Given the description of an element on the screen output the (x, y) to click on. 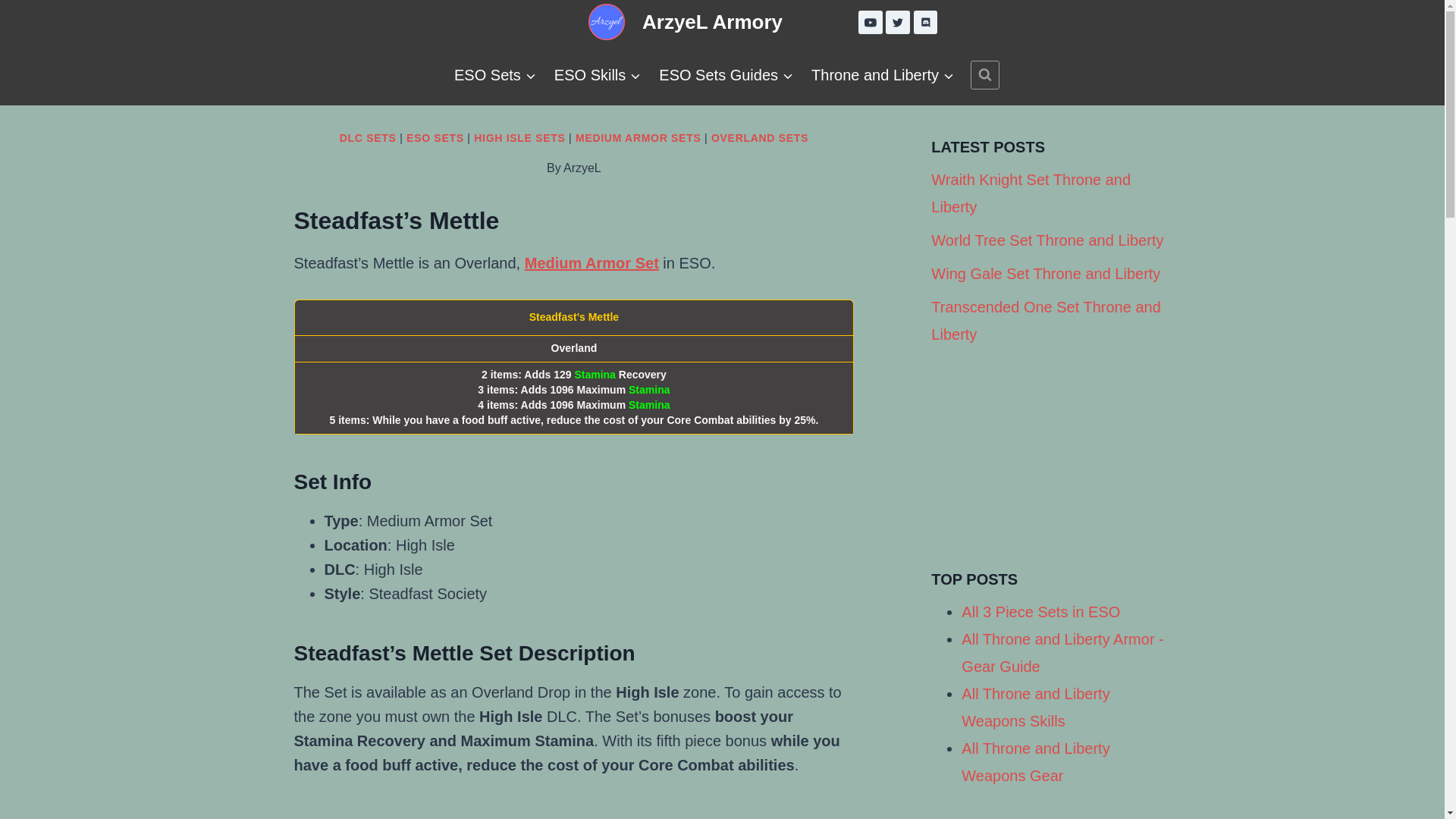
ESO Skills (596, 75)
ESO Sets (494, 75)
ArzyeL Armory (684, 22)
